Given the description of an element on the screen output the (x, y) to click on. 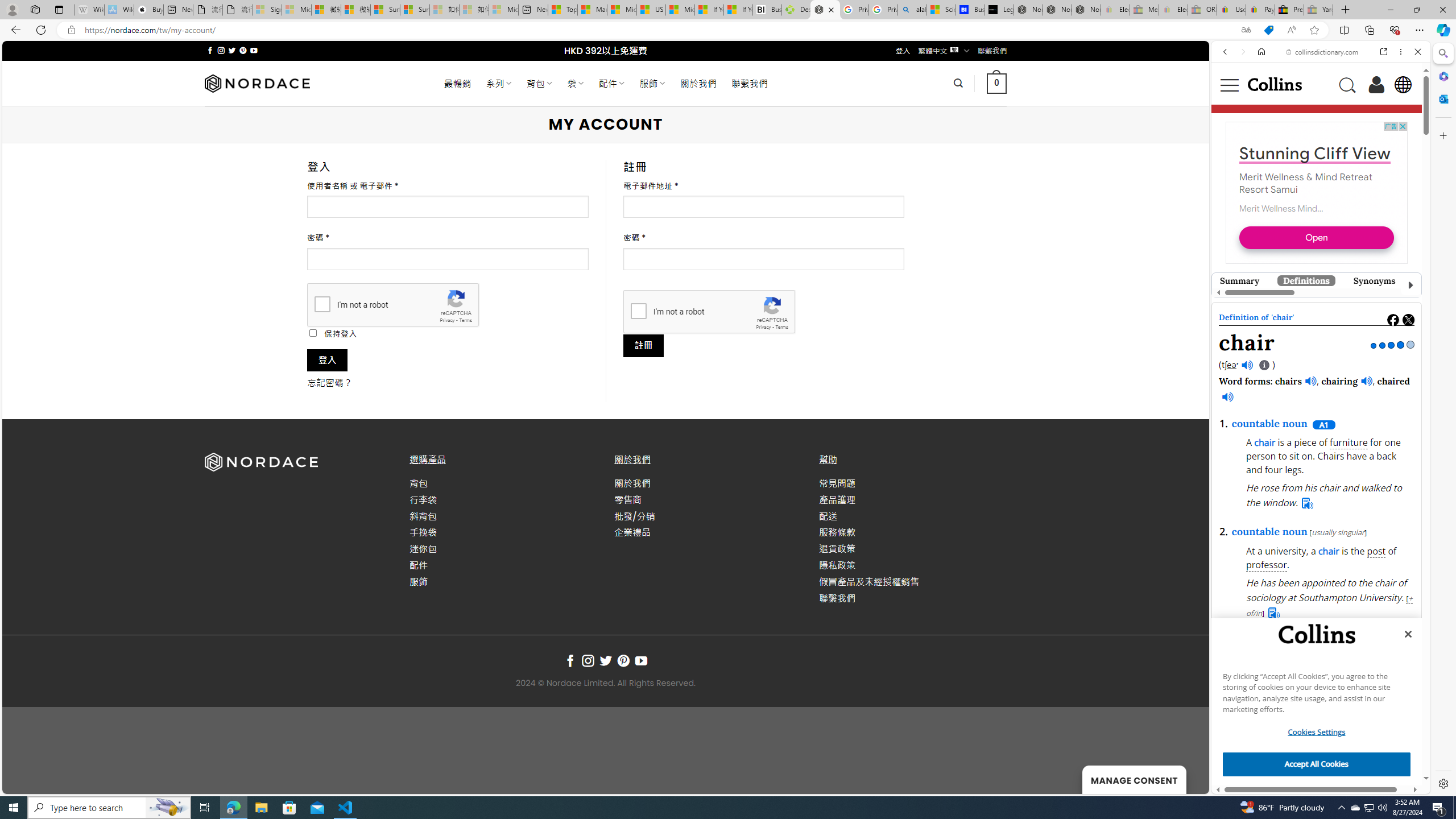
Translate chair to Choose language (1335, 572)
A1 (1323, 424)
